Given the description of an element on the screen output the (x, y) to click on. 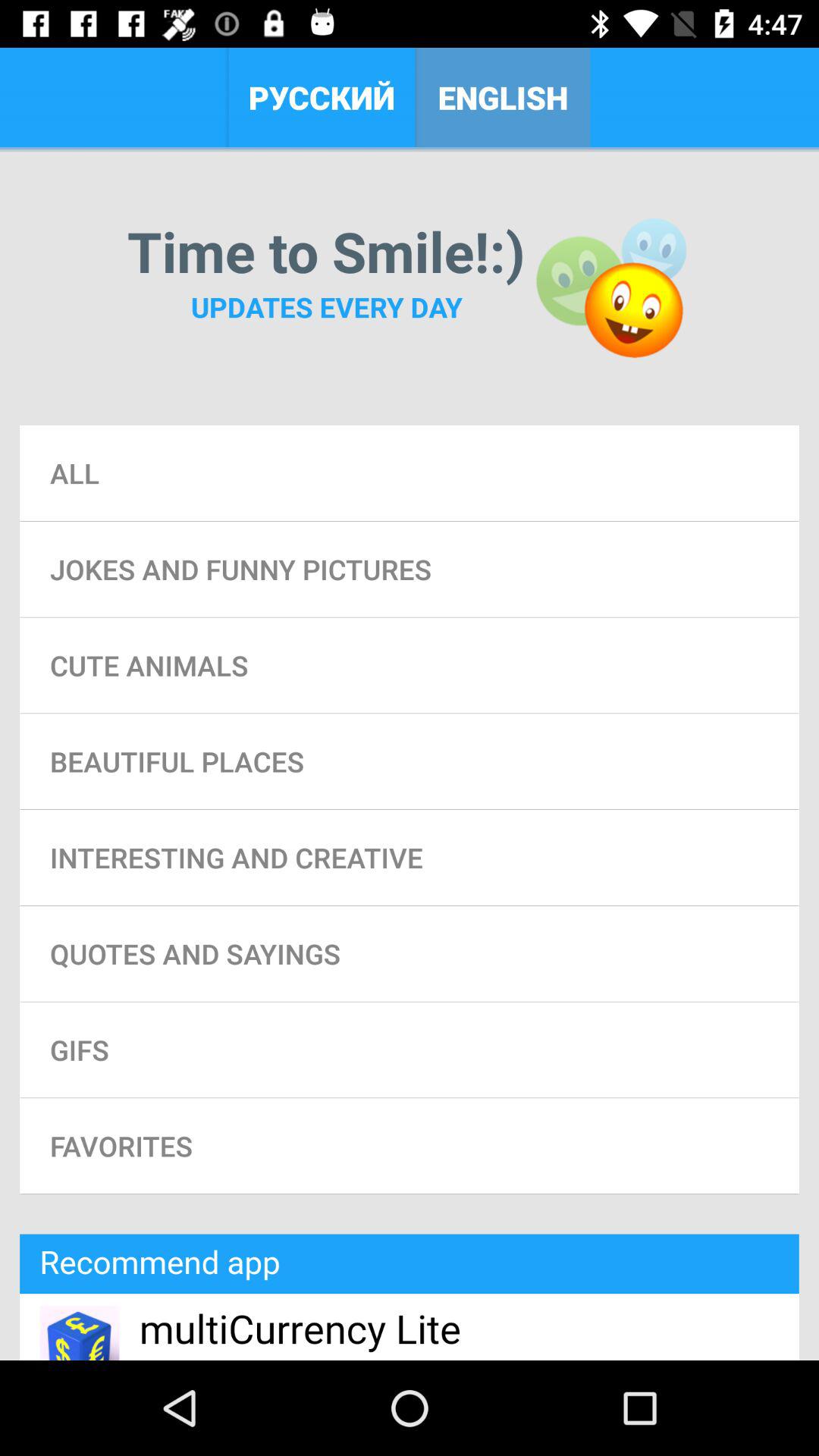
click item above favorites (409, 1049)
